Given the description of an element on the screen output the (x, y) to click on. 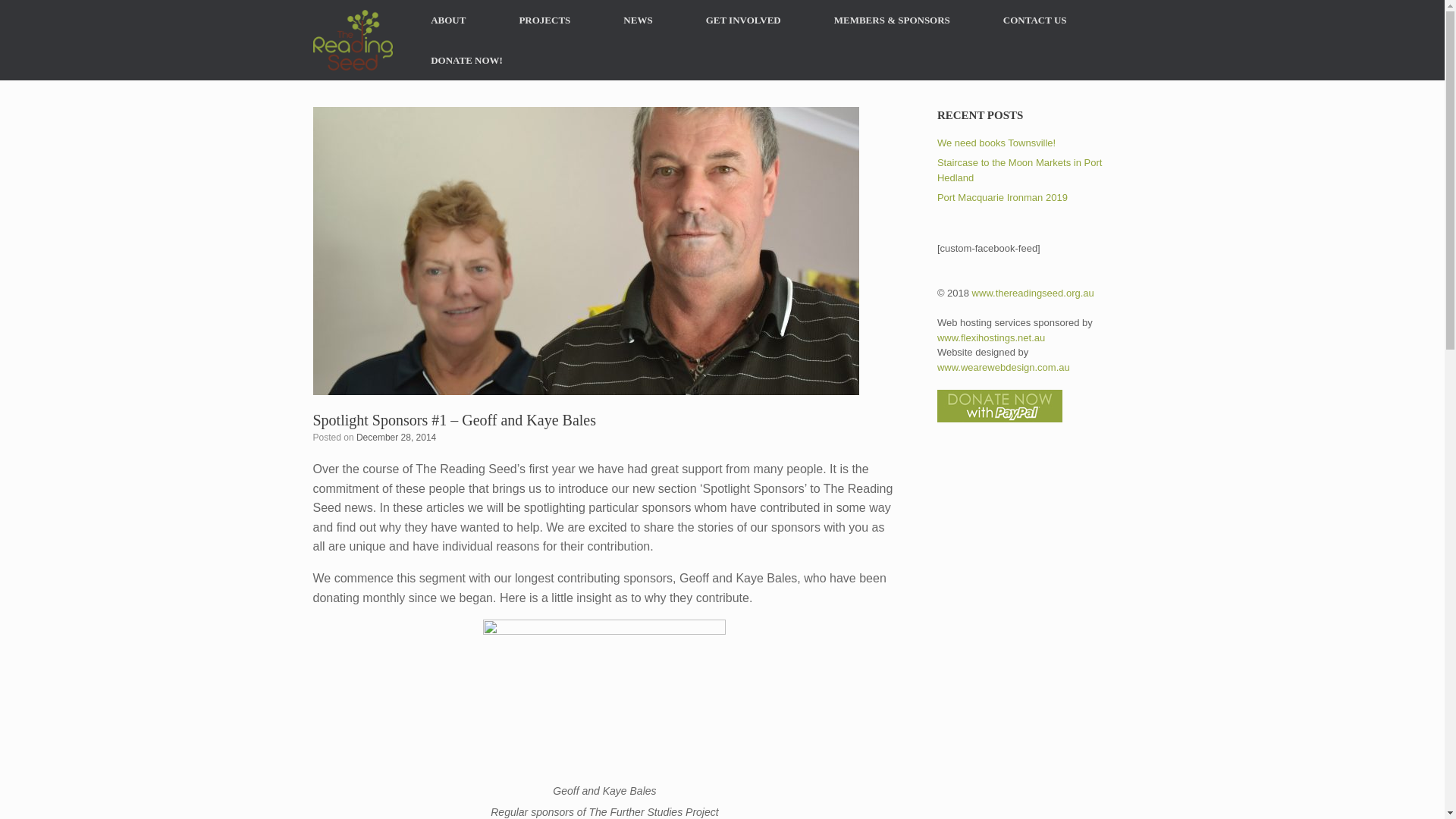
www.thereadingseed.org.au (1033, 292)
DONATE NOW! (466, 60)
December 28, 2014 (395, 437)
www.wearewebdesign.com.au (1003, 366)
www.flexihostings.net.au (991, 337)
12:16 am (395, 437)
ABOUT (448, 20)
Staircase to the Moon Markets in Port Hedland (1019, 170)
CONTACT US (1034, 20)
Port Macquarie Ironman 2019 (1002, 197)
